Given the description of an element on the screen output the (x, y) to click on. 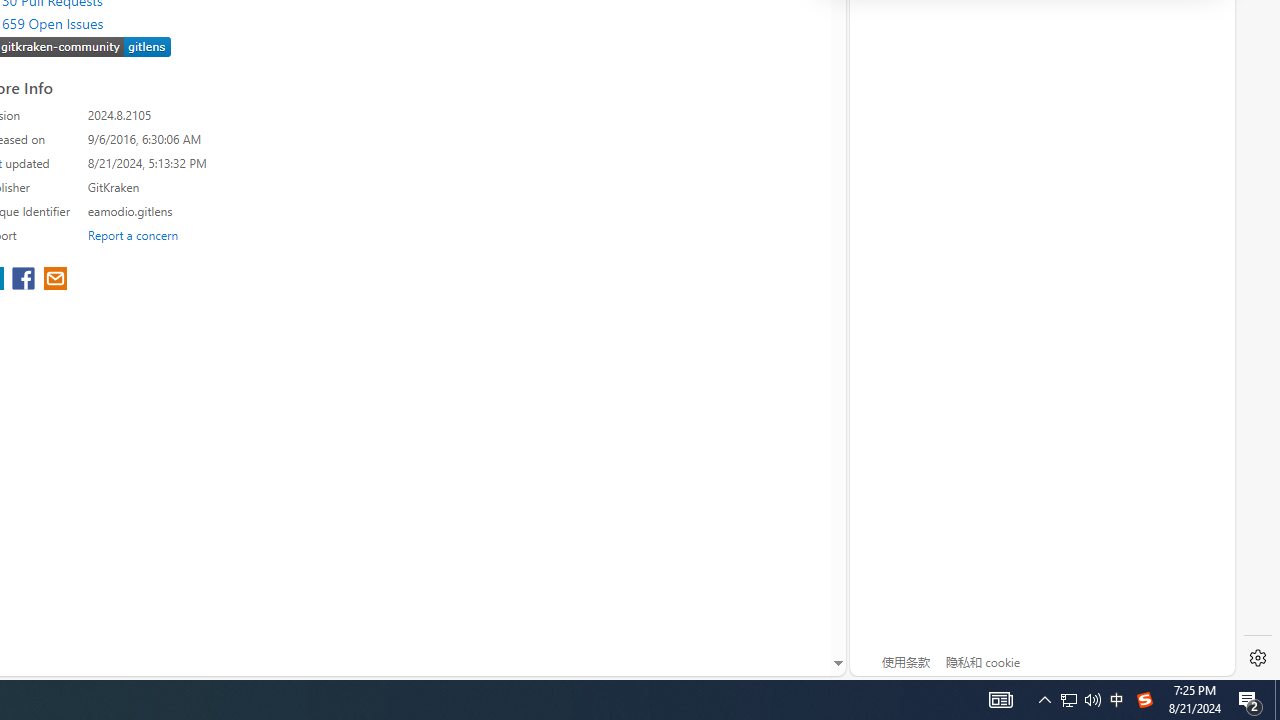
share extension on email (54, 280)
Report a concern (133, 234)
share extension on facebook (26, 280)
